Given the description of an element on the screen output the (x, y) to click on. 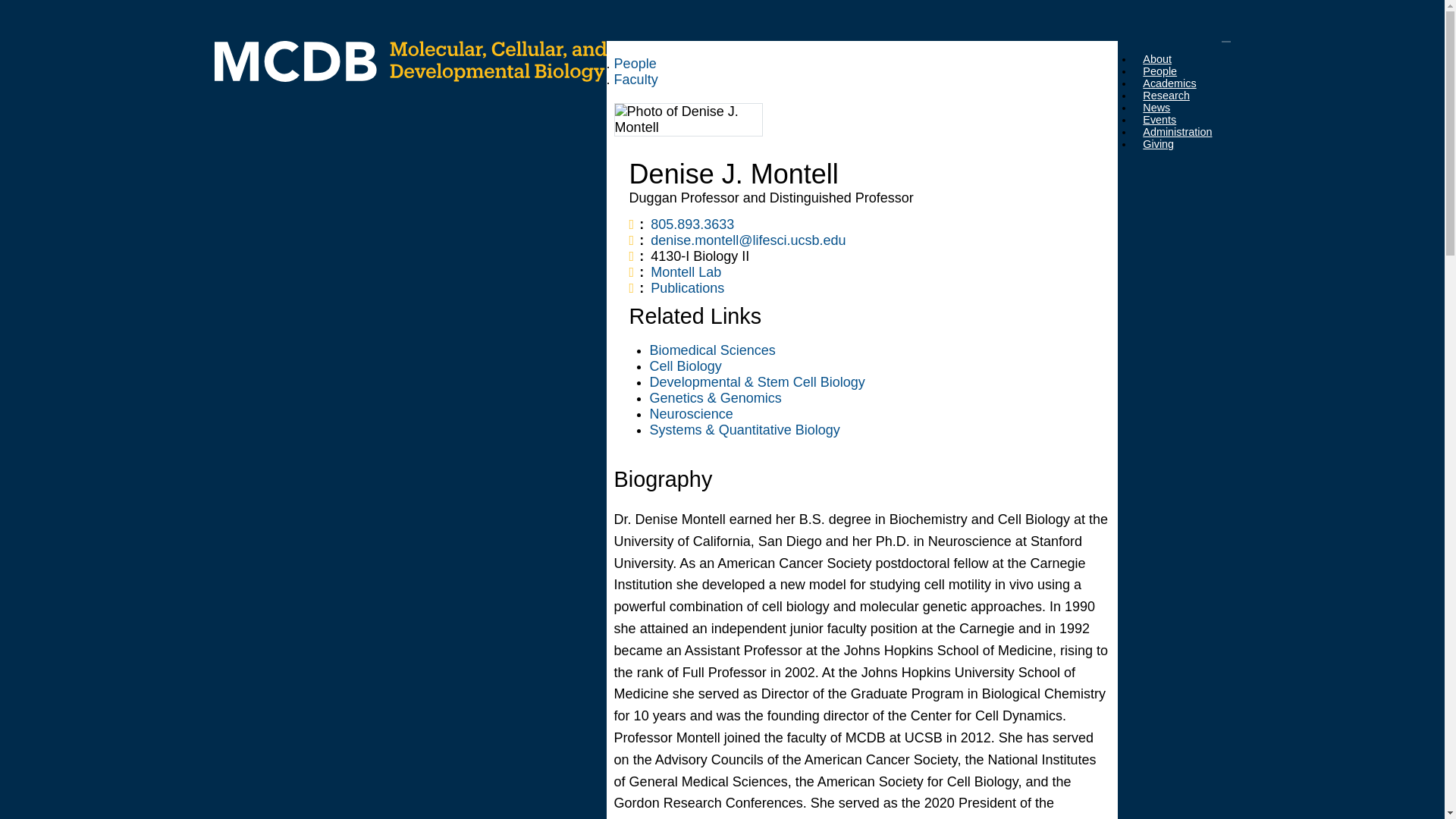
Academics (1168, 82)
Giving (1157, 143)
Biomedical Sciences (712, 350)
Research (1165, 95)
Faculty (636, 79)
Neuroscience (691, 413)
People (1159, 70)
Montell Lab (685, 271)
Publications (686, 287)
Cell Biology (685, 365)
People (635, 63)
Events (1159, 119)
805.893.3633 (691, 224)
